Given the description of an element on the screen output the (x, y) to click on. 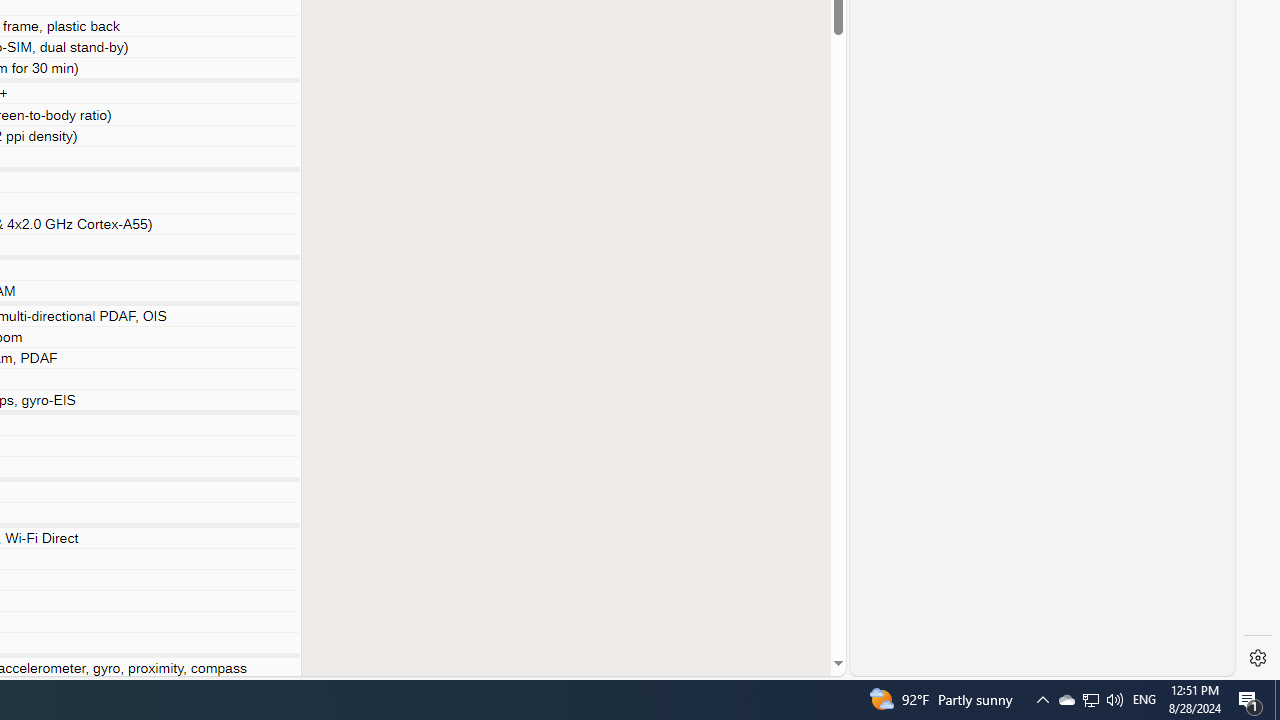
Settings (1258, 658)
